Given the description of an element on the screen output the (x, y) to click on. 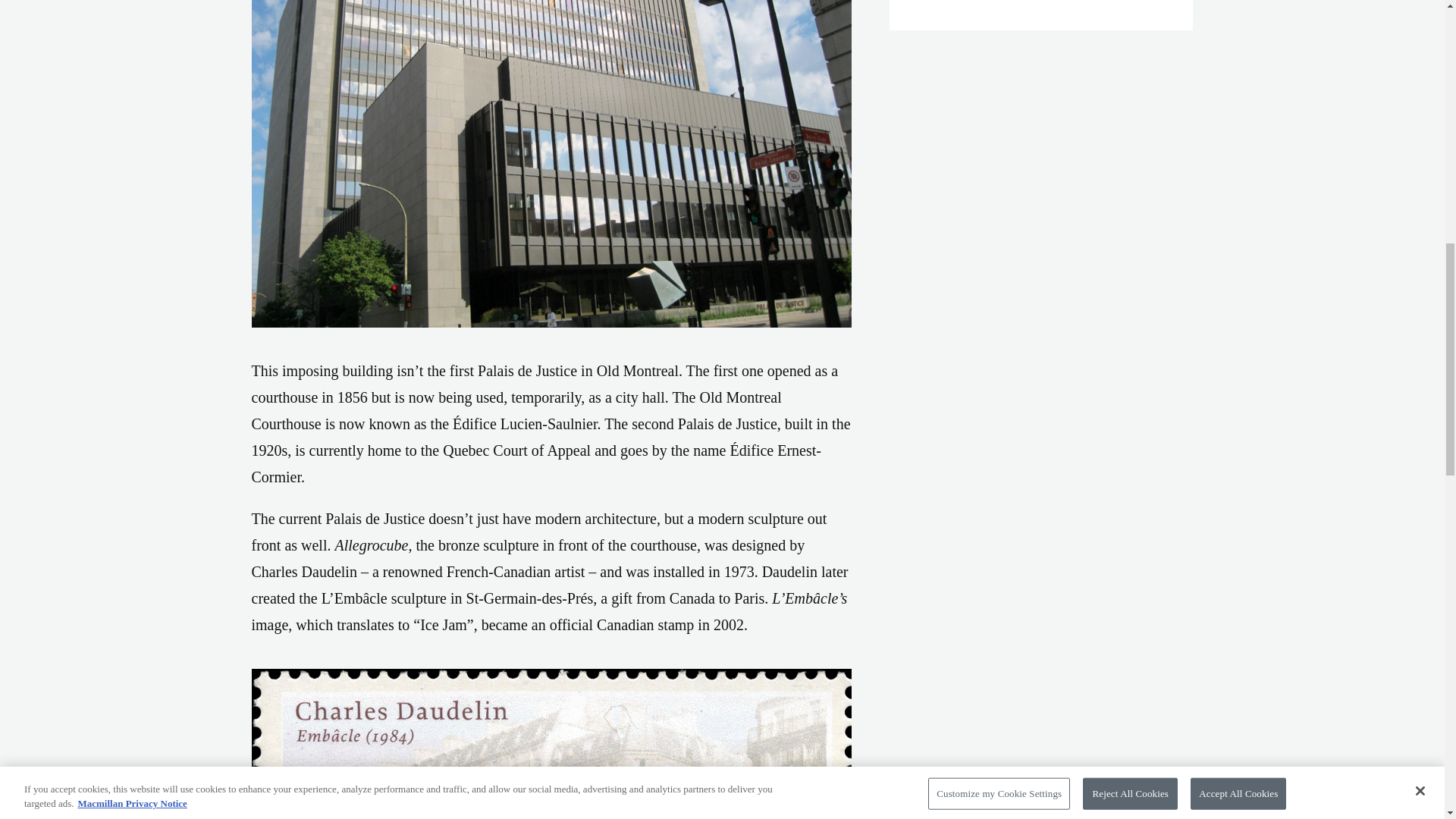
THE BISTRO (963, 2)
